Given the description of an element on the screen output the (x, y) to click on. 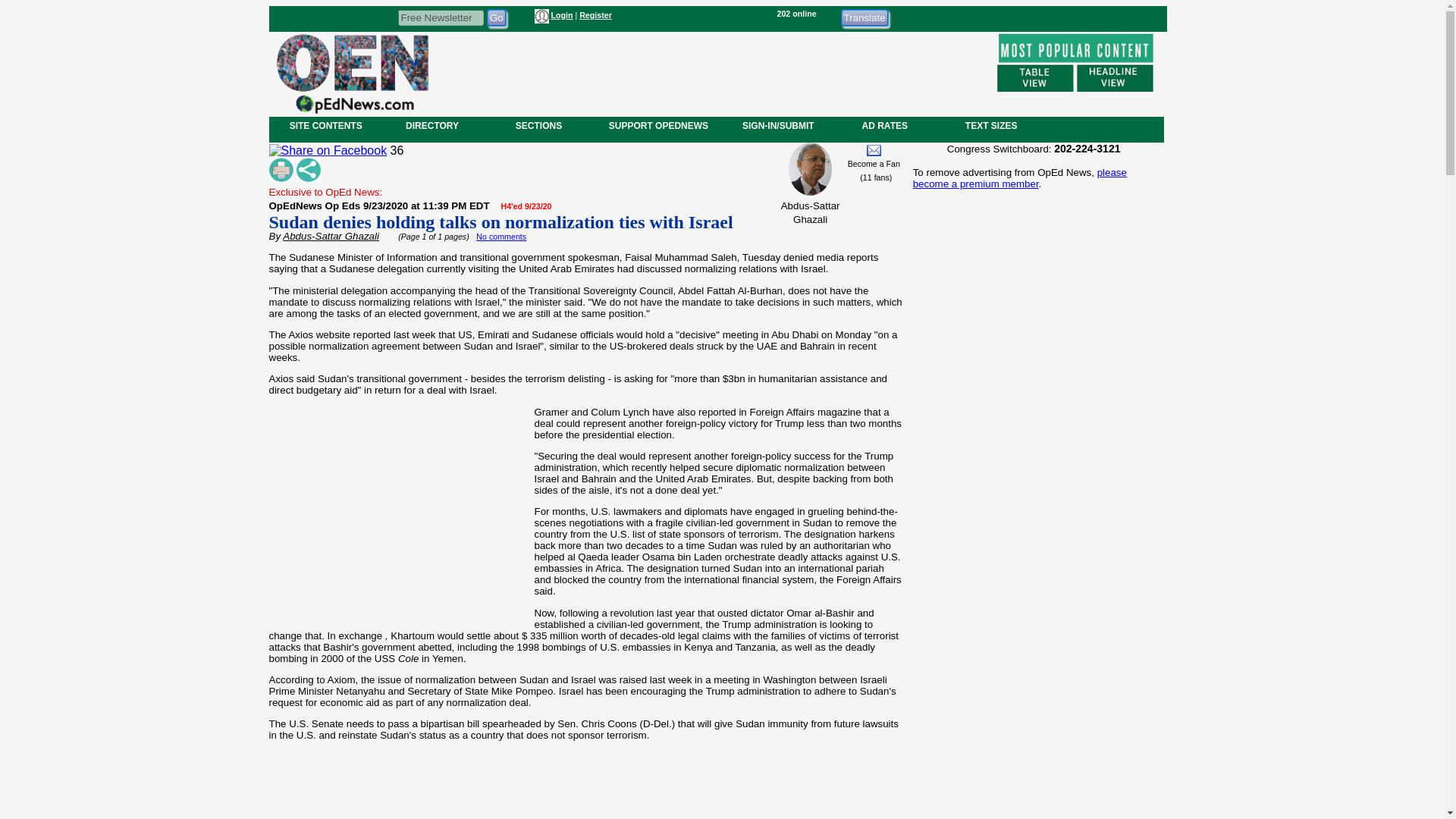
More Sharing (308, 169)
Free Newsletter (440, 17)
AD RATES (884, 125)
Translate (864, 17)
Share on Facebook (327, 151)
Printer Friendly Page (279, 169)
Translate (864, 17)
Advertisement (711, 71)
Become a Fan (873, 163)
Login (561, 14)
